Given the description of an element on the screen output the (x, y) to click on. 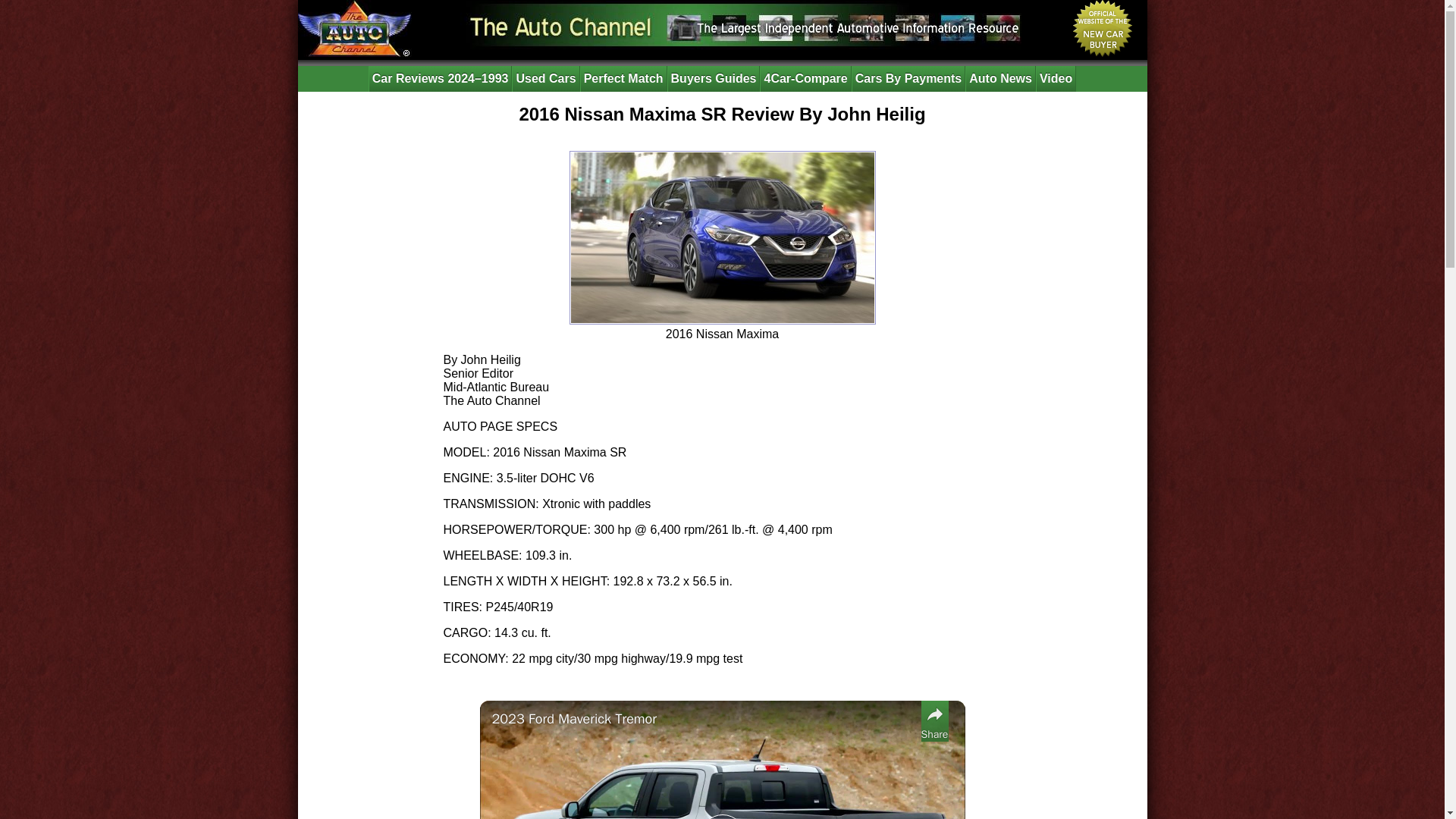
Play Video (721, 816)
Specs, Prices, Comparisons, Reviews, Crash Test Results (713, 78)
Used Cars (545, 78)
The Auto Channel (353, 28)
Perfect Match (622, 78)
Buyers Guides (713, 78)
Play Video (721, 816)
